Given the description of an element on the screen output the (x, y) to click on. 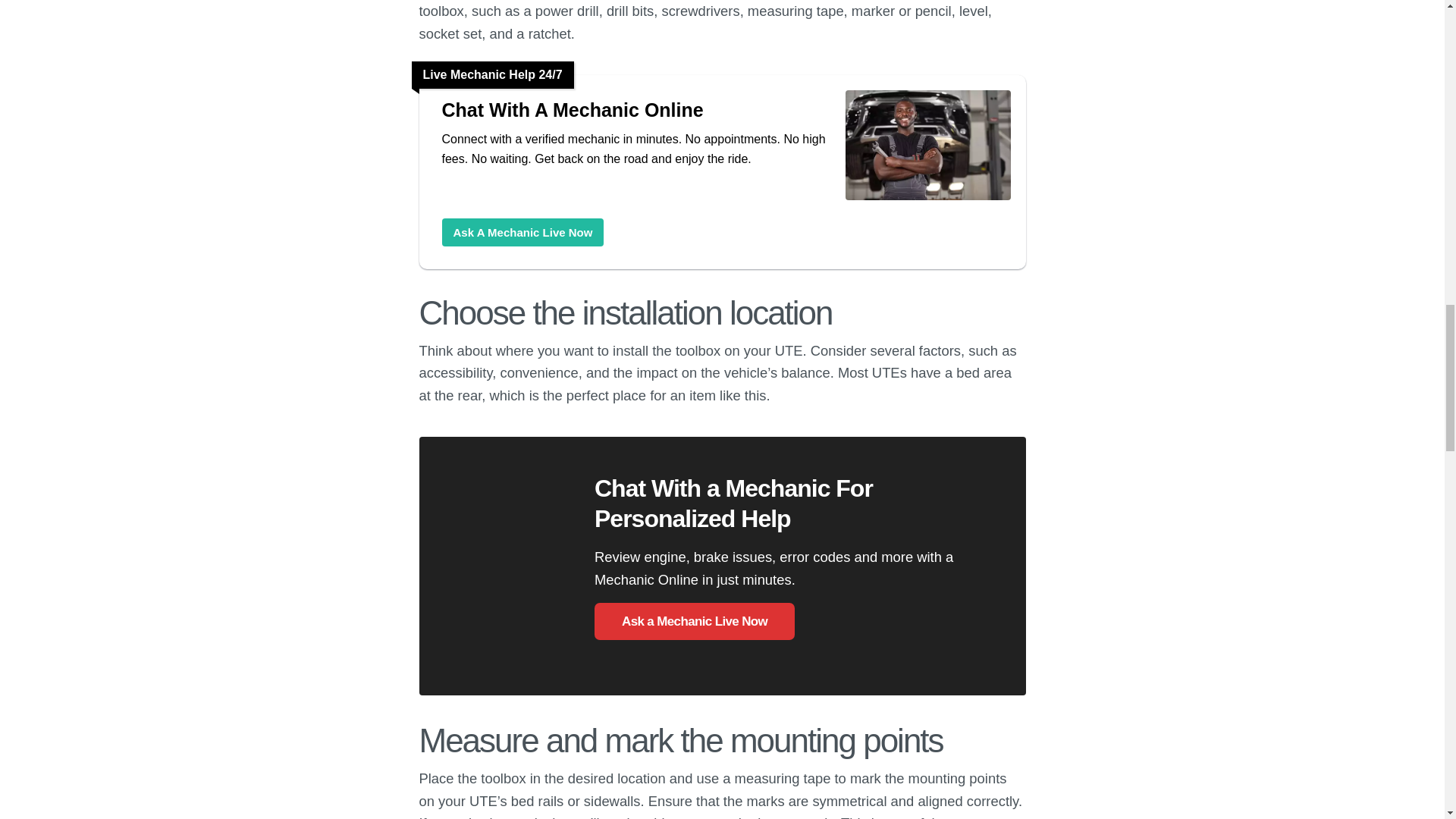
Chat With A Mechanic Online (927, 198)
Chat With A Mechanic Online (635, 109)
Ask A Mechanic Live Now (522, 232)
Ask a Mechanic Live Now (694, 620)
Chat With A Mechanic Online (522, 232)
Chat With A Mechanic Online (635, 109)
